Given the description of an element on the screen output the (x, y) to click on. 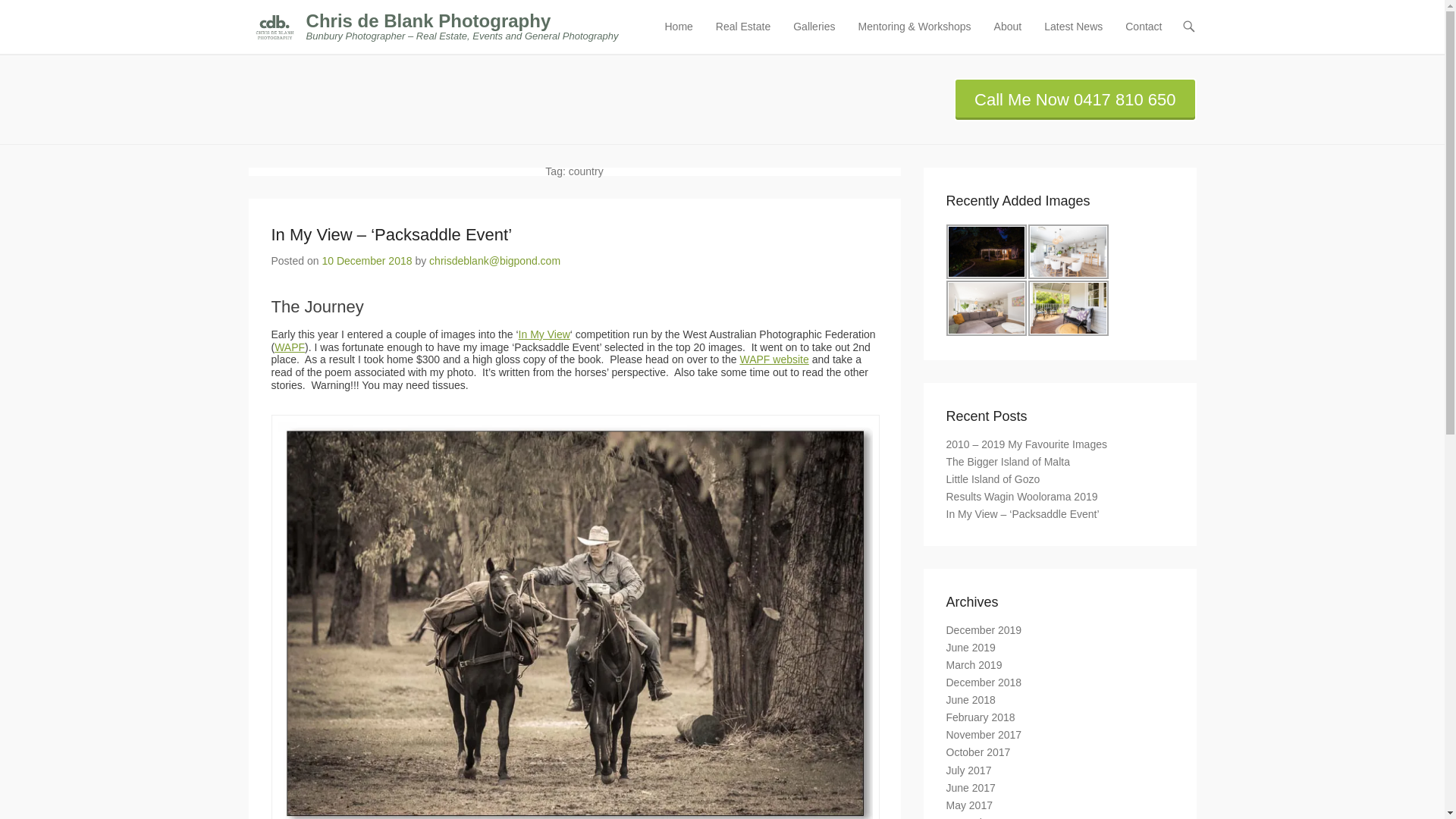
Latest News (1072, 35)
Contact (1143, 35)
Home (678, 35)
39 Star St Treendale (1067, 252)
Galleries (814, 35)
Chris de Blank Photography (428, 20)
About (1008, 35)
46 Capel St Kirup 2nd (986, 252)
Skip to content (691, 27)
